Given the description of an element on the screen output the (x, y) to click on. 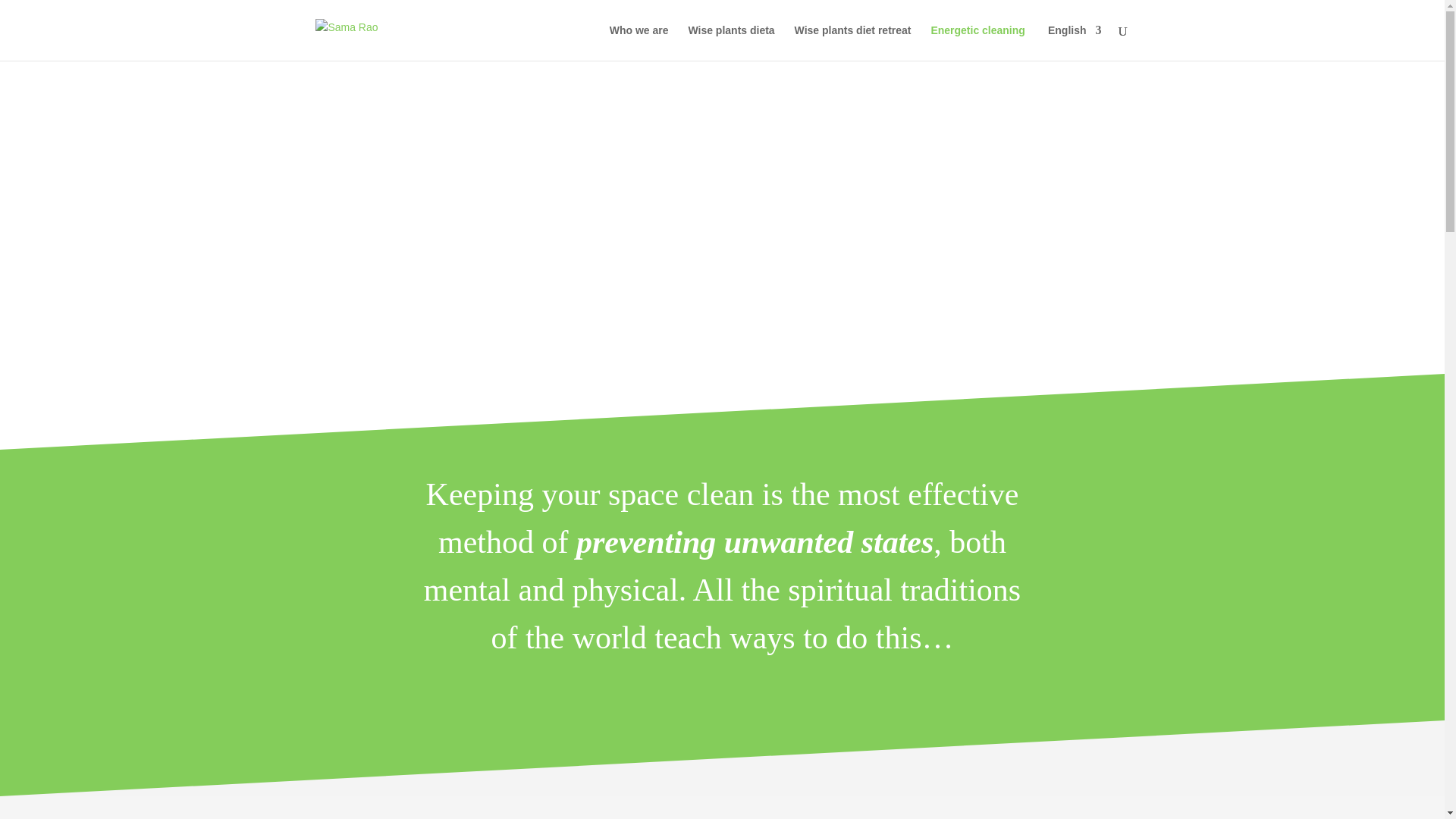
Who we are (639, 42)
English (1073, 42)
Energetic cleaning (977, 42)
Wise plants diet retreat (852, 42)
Wise plants dieta (730, 42)
English (1073, 42)
